Given the description of an element on the screen output the (x, y) to click on. 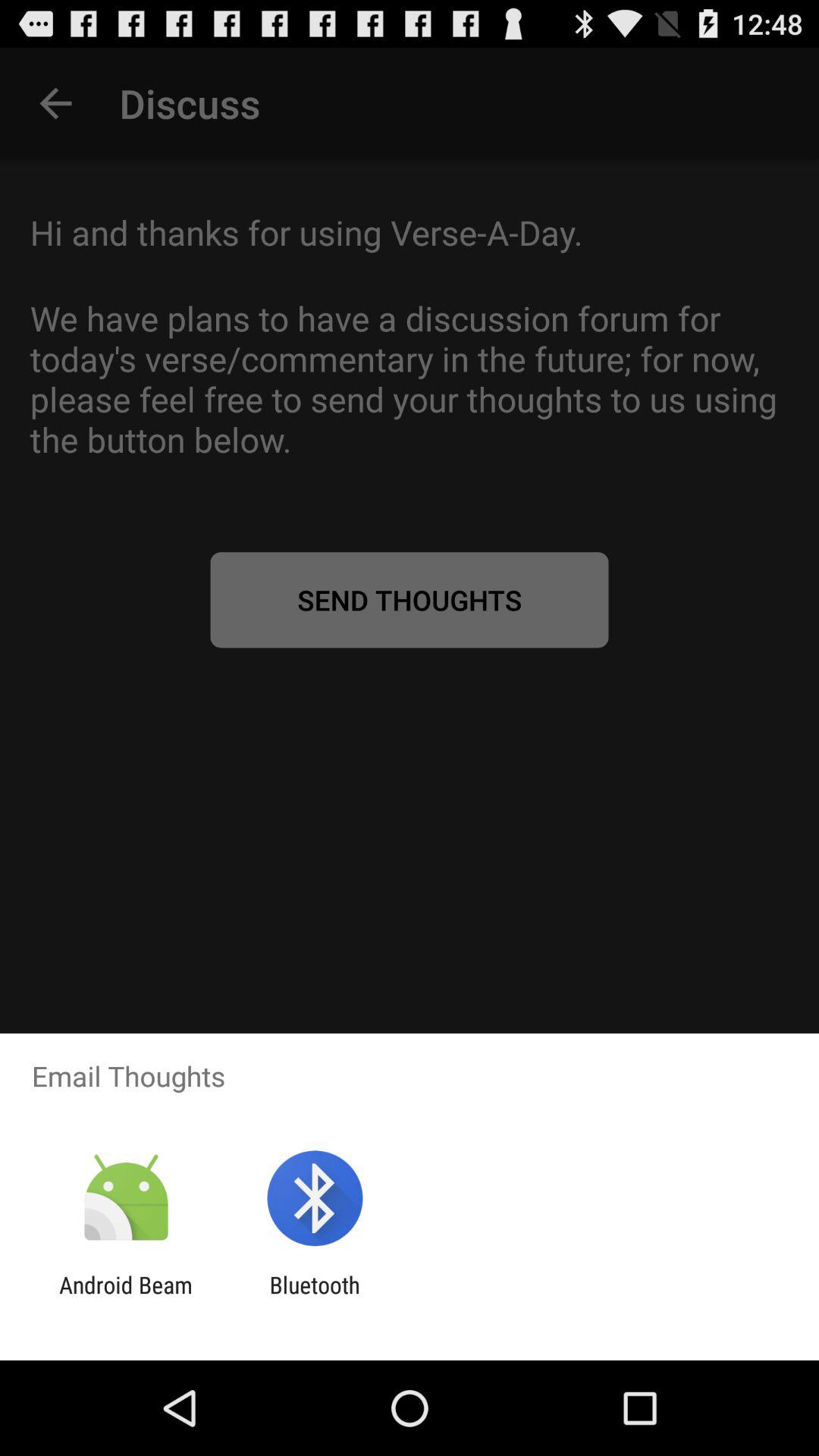
swipe to bluetooth item (314, 1298)
